Given the description of an element on the screen output the (x, y) to click on. 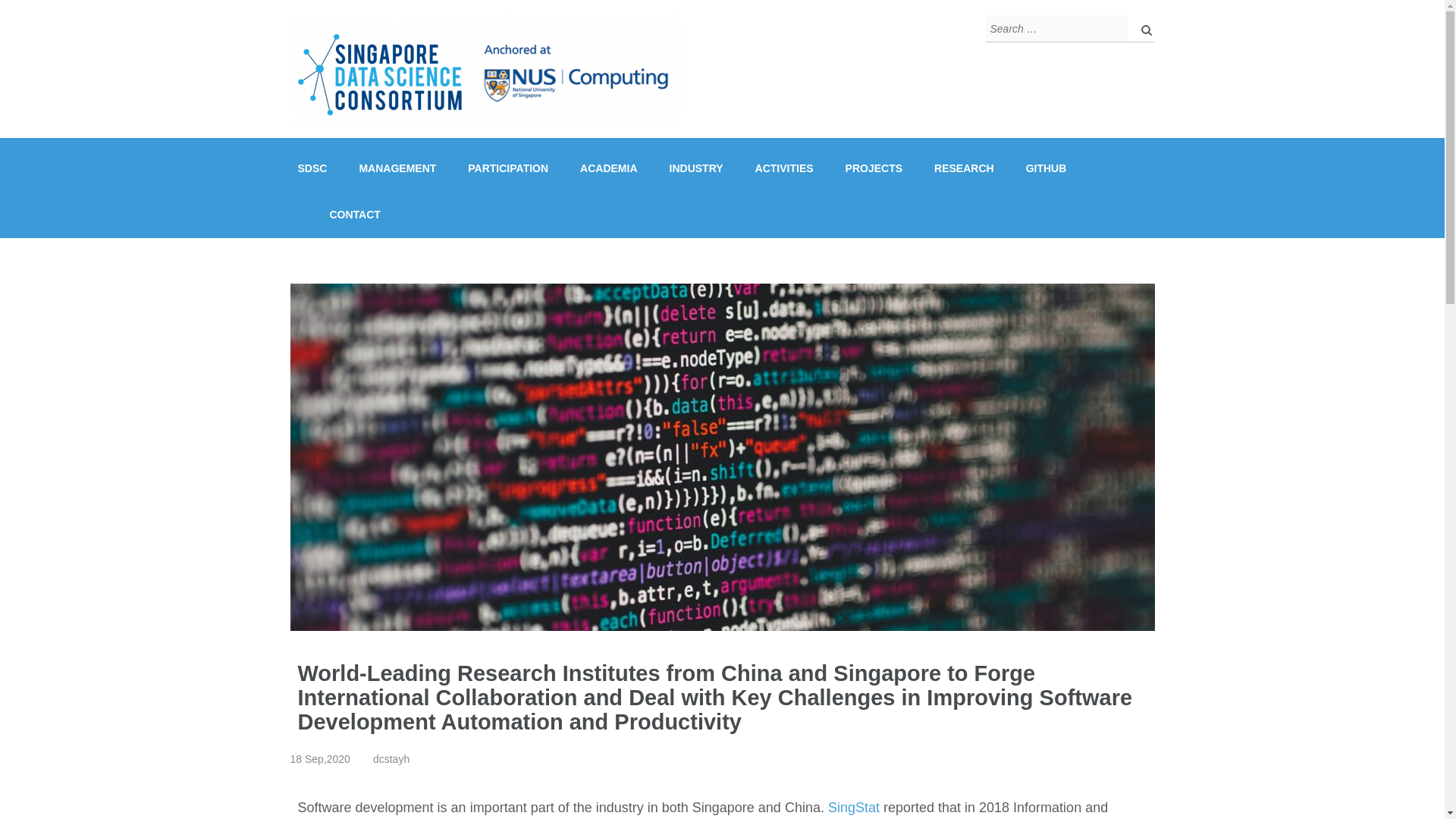
ACADEMIA (608, 168)
INDUSTRY (696, 168)
RESEARCH (964, 168)
MANAGEMENT (396, 168)
18 Sep,2020 (319, 758)
dcstayh (390, 758)
PROJECTS (873, 168)
SingStat (853, 807)
CONTACT (354, 214)
PARTICIPATION (507, 168)
